Given the description of an element on the screen output the (x, y) to click on. 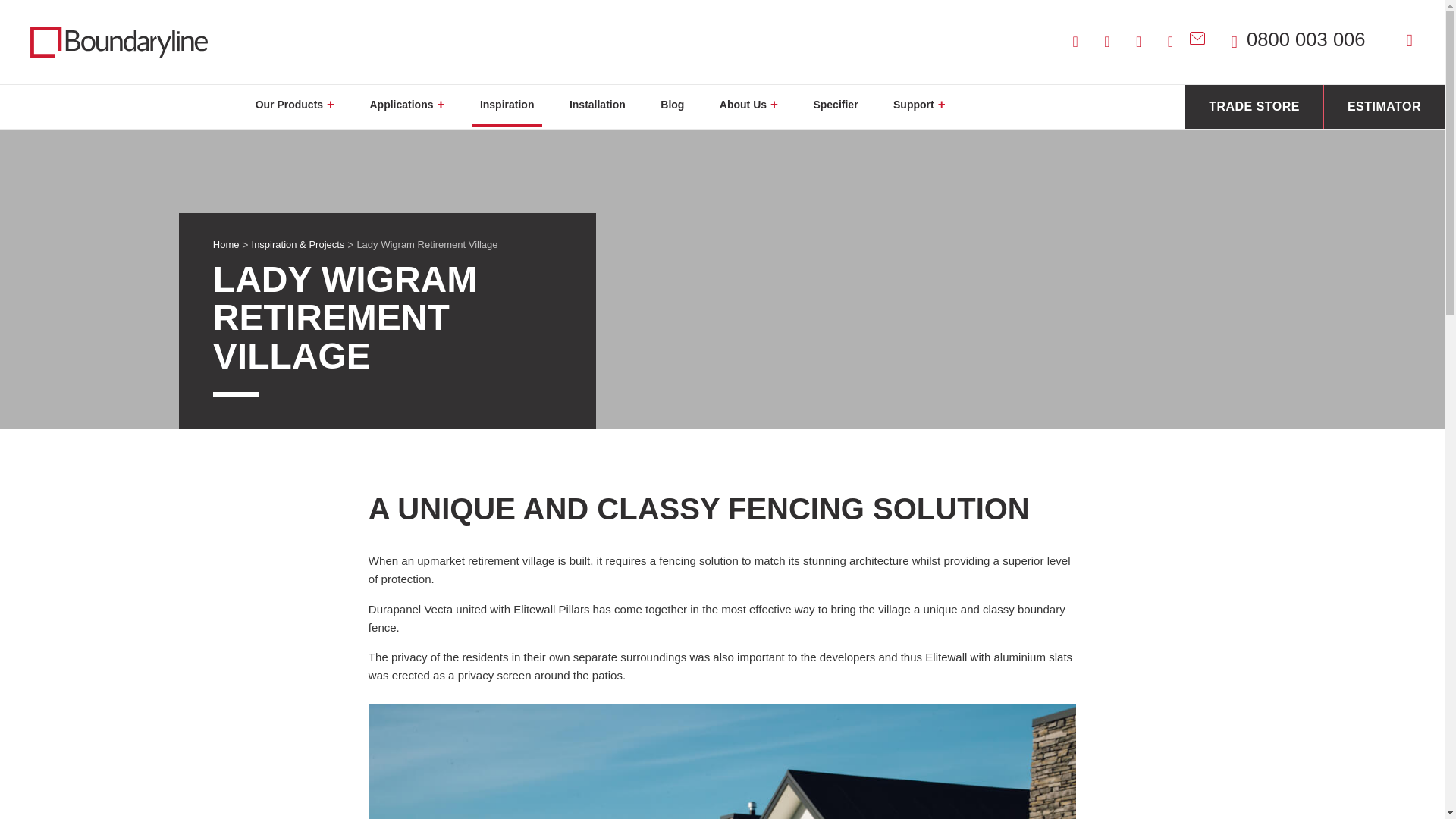
Specifier (1342, 290)
Our Products (1342, 75)
Bollards (1342, 153)
0800 003 006 (1297, 39)
Our Team (1342, 247)
Contact Us (1342, 341)
Estimator (1342, 392)
Visit Boundaryline on instagram (1076, 42)
Giving Back (1342, 265)
Support (1342, 316)
Visit Boundaryline on pinterest (1172, 42)
Inspiration (1342, 179)
Visit Boundaryline on facebook (1140, 42)
Trade Store (1342, 366)
Blog (1342, 204)
